Given the description of an element on the screen output the (x, y) to click on. 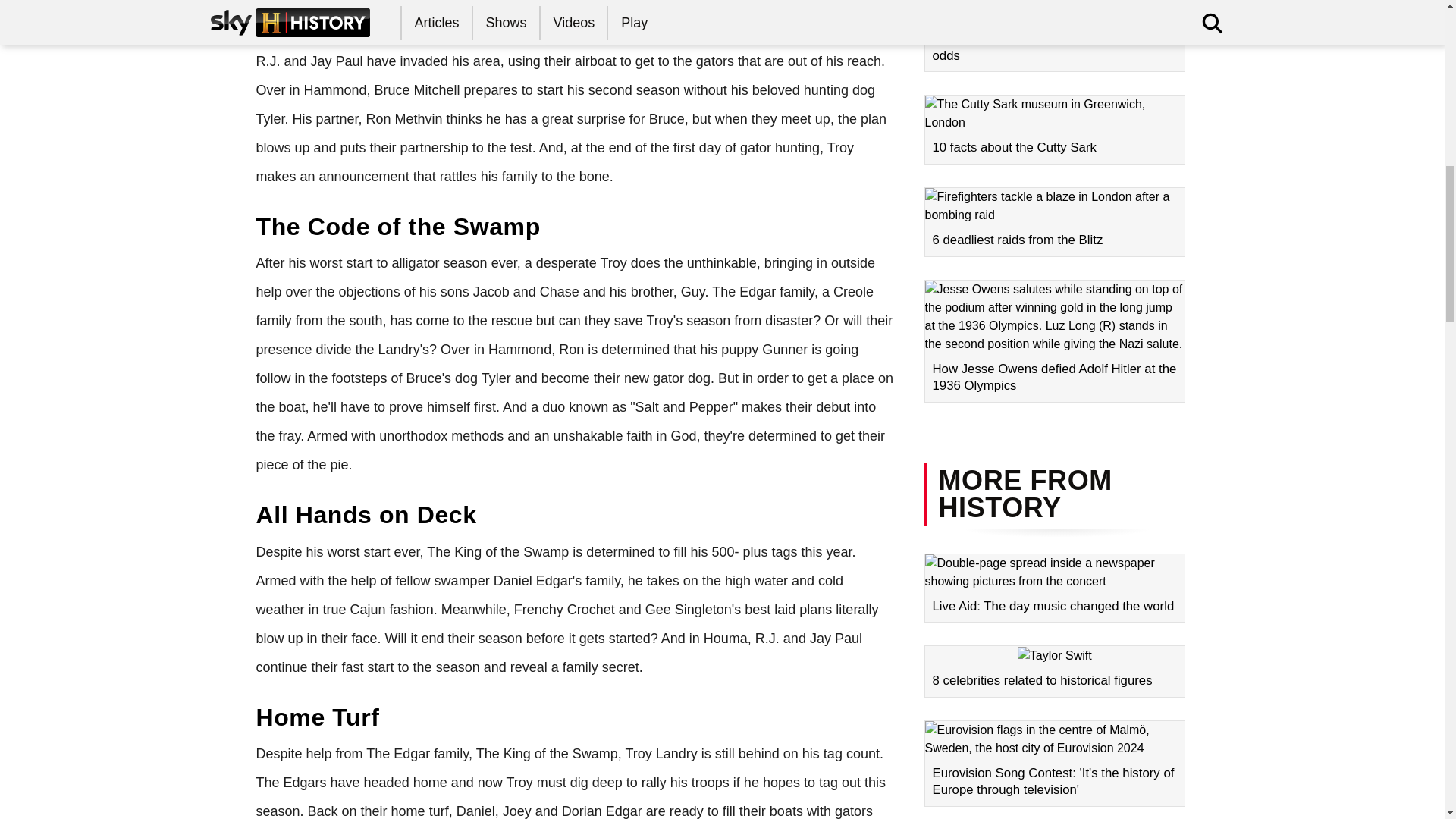
8 celebrities related to historical figures (1054, 671)
10 facts about the Cutty Sark (1054, 129)
6 deadliest raids from the Blitz (1054, 222)
Apollo 13: A survival mission against the odds (1054, 36)
How Jesse Owens defied Adolf Hitler at the 1936 Olympics (1054, 341)
Live Aid: The day music changed the world (1054, 588)
